Given the description of an element on the screen output the (x, y) to click on. 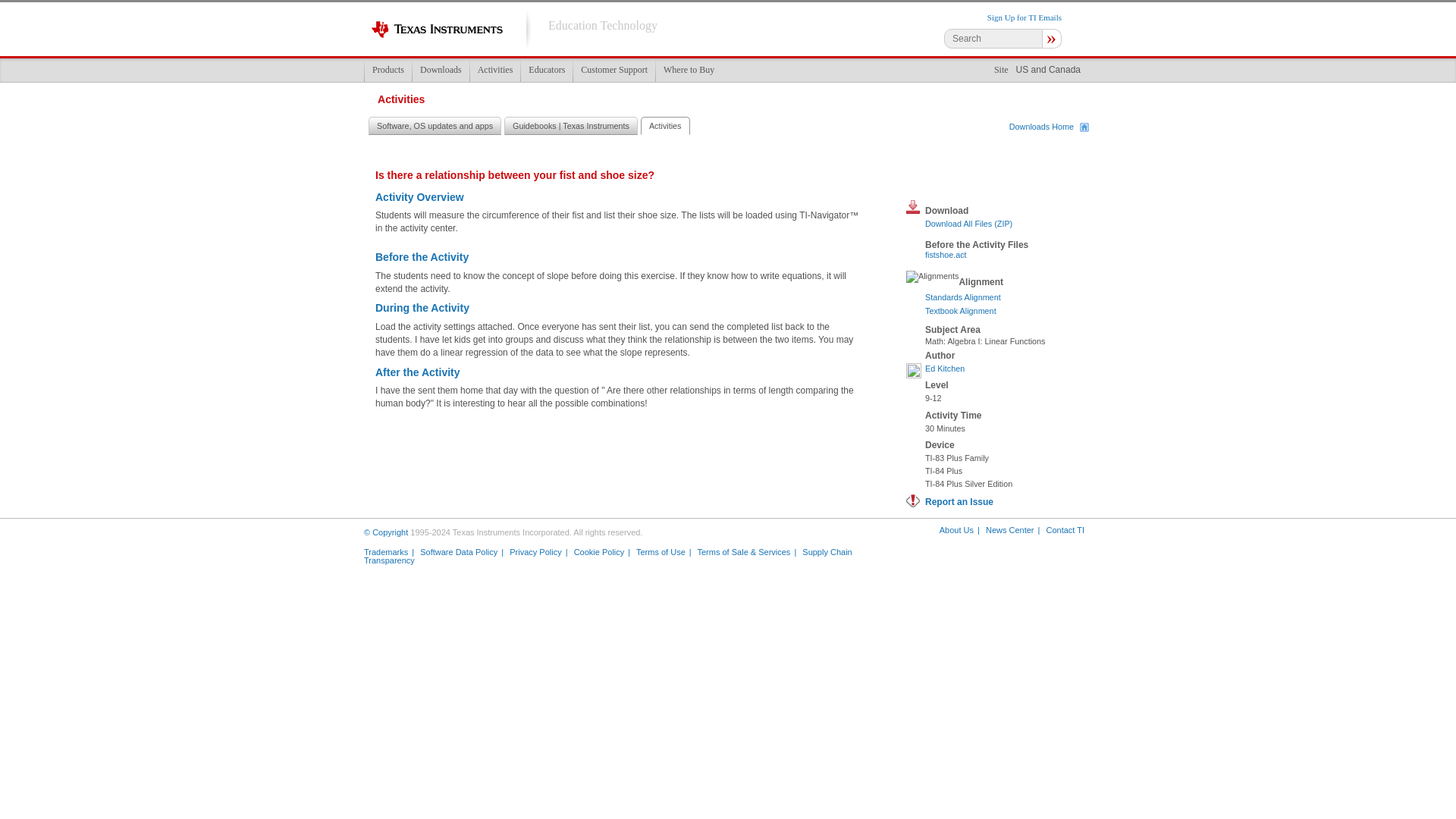
YouTube (1025, 560)
Products (388, 69)
Activities (494, 69)
Instagram (998, 560)
Facebook (947, 180)
Facebook (946, 560)
Downloads (440, 69)
Pinterest (1052, 560)
Twitter (975, 180)
Recommend Activity (919, 180)
Sign Up for TI Emails (1024, 17)
Twitter (972, 560)
Educators (545, 69)
